Given the description of an element on the screen output the (x, y) to click on. 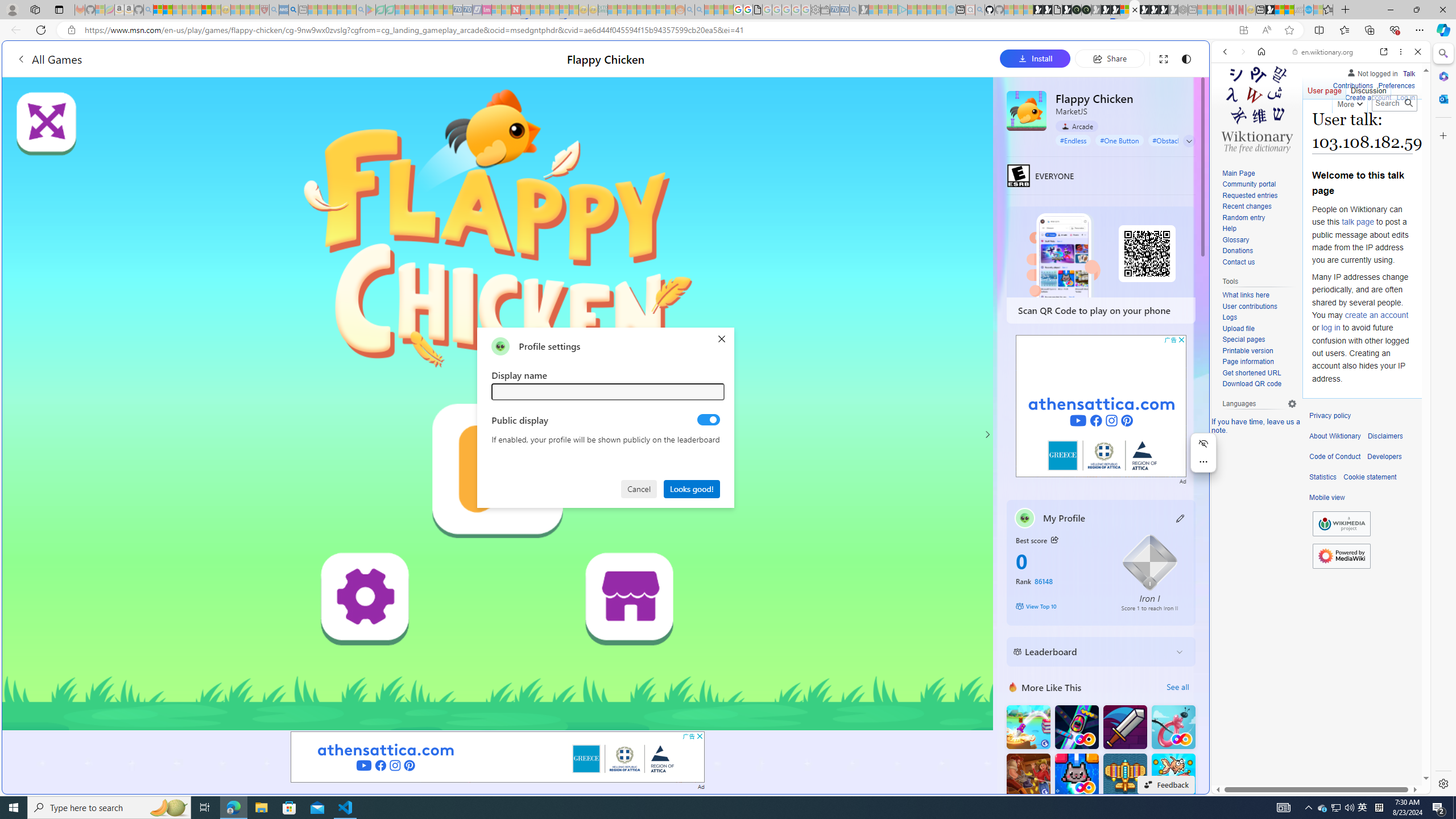
Close Customize pane (1442, 135)
VIDEOS (1300, 130)
Discussion (1367, 87)
14 Common Myths Debunked By Scientific Facts - Sleeping (534, 9)
Close split screen (1208, 57)
Create account (1367, 98)
SEARCH TOOLS (1350, 130)
Frequently visited (965, 151)
Forward (1242, 51)
Open link in new tab (1383, 51)
